Given the description of an element on the screen output the (x, y) to click on. 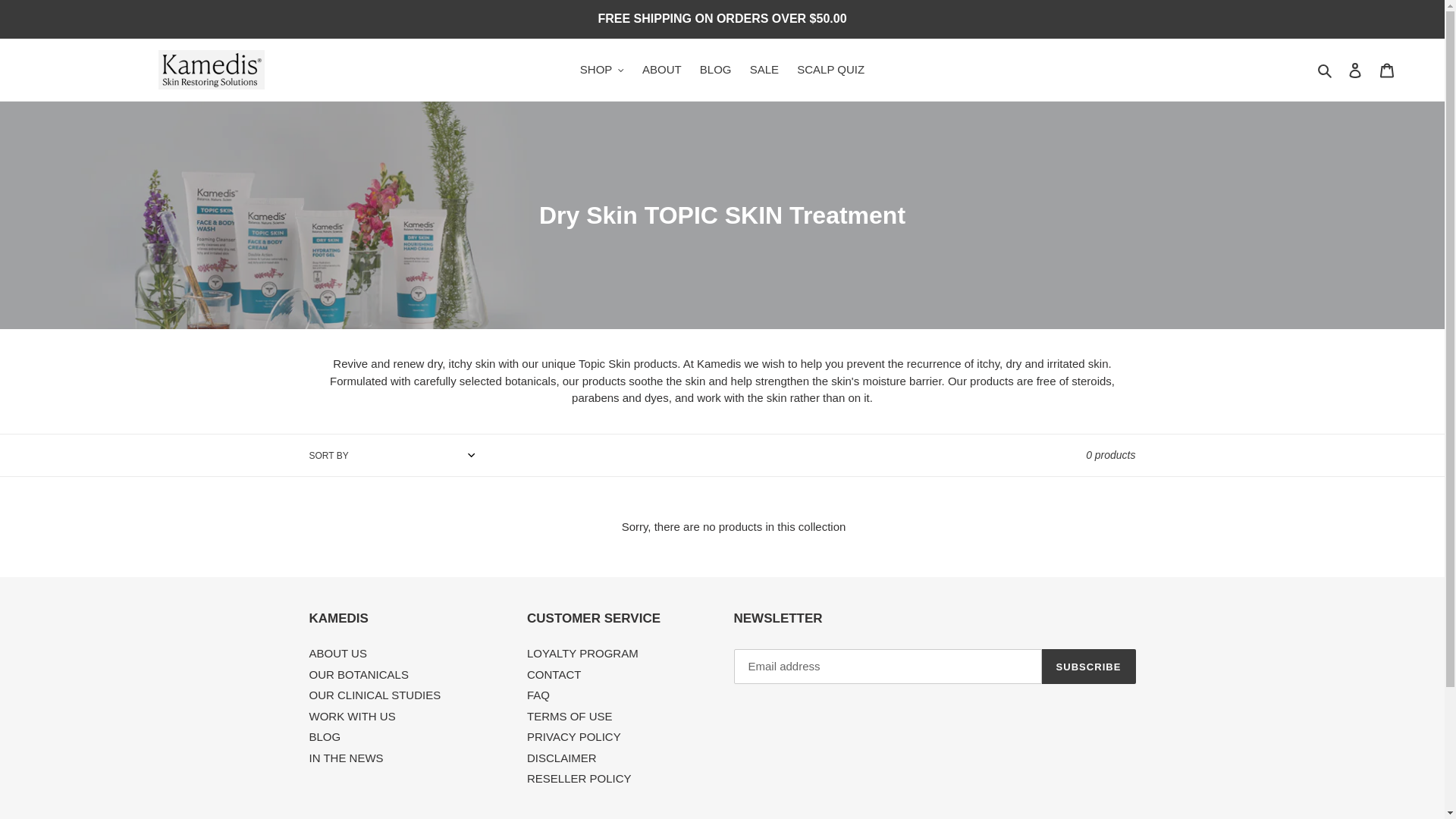
FAQ (538, 694)
SCALP QUIZ (830, 69)
LOYALTY PROGRAM (583, 653)
Log in (1355, 70)
OUR CLINICAL STUDIES (374, 694)
OUR BOTANICALS (358, 674)
ABOUT (661, 69)
SALE (764, 69)
CONTACT (553, 674)
WORK WITH US (352, 716)
